Given the description of an element on the screen output the (x, y) to click on. 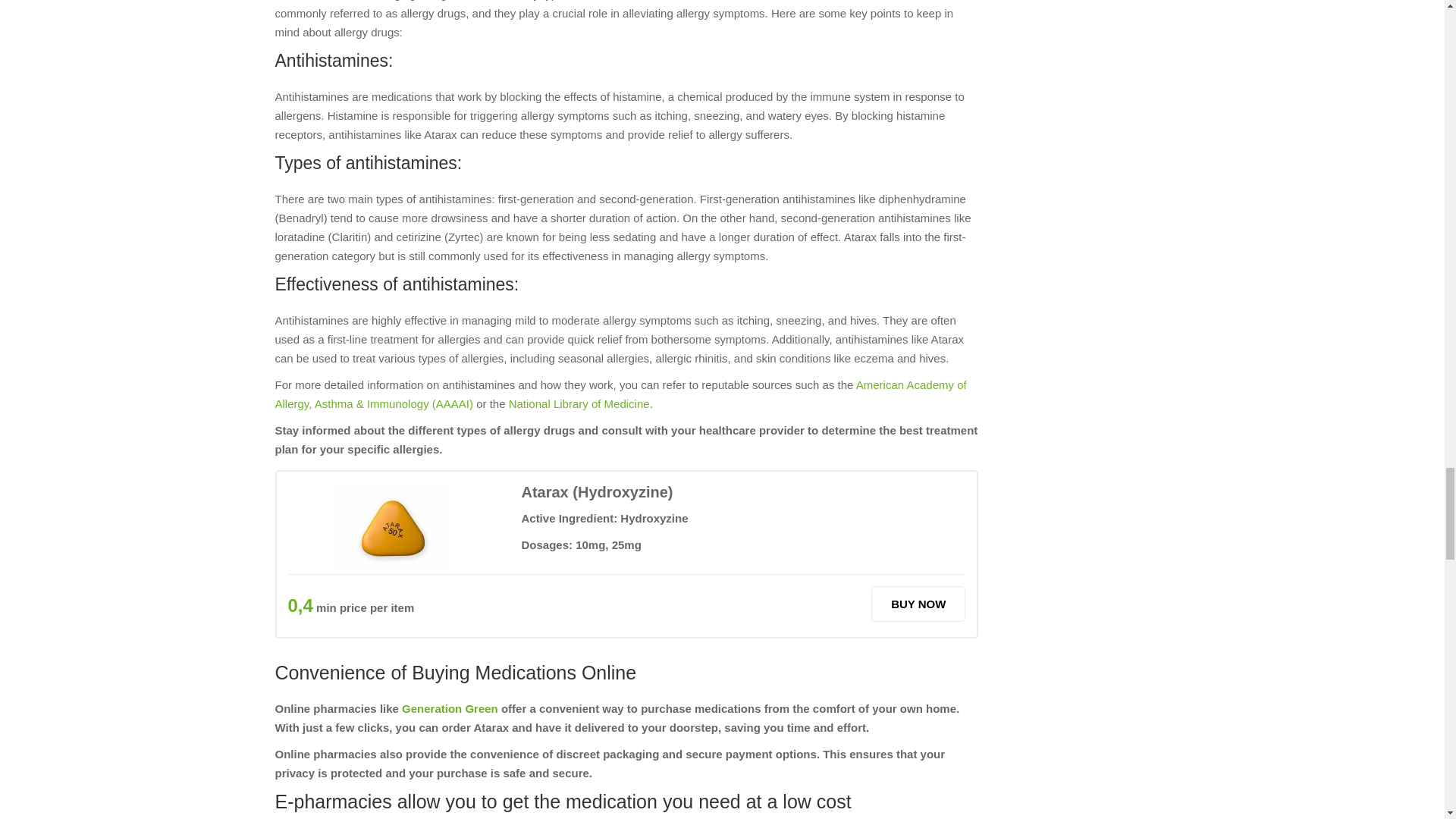
National Library of Medicine (578, 403)
Buy Now (917, 603)
BUY NOW (917, 603)
Generation Green (449, 707)
